Given the description of an element on the screen output the (x, y) to click on. 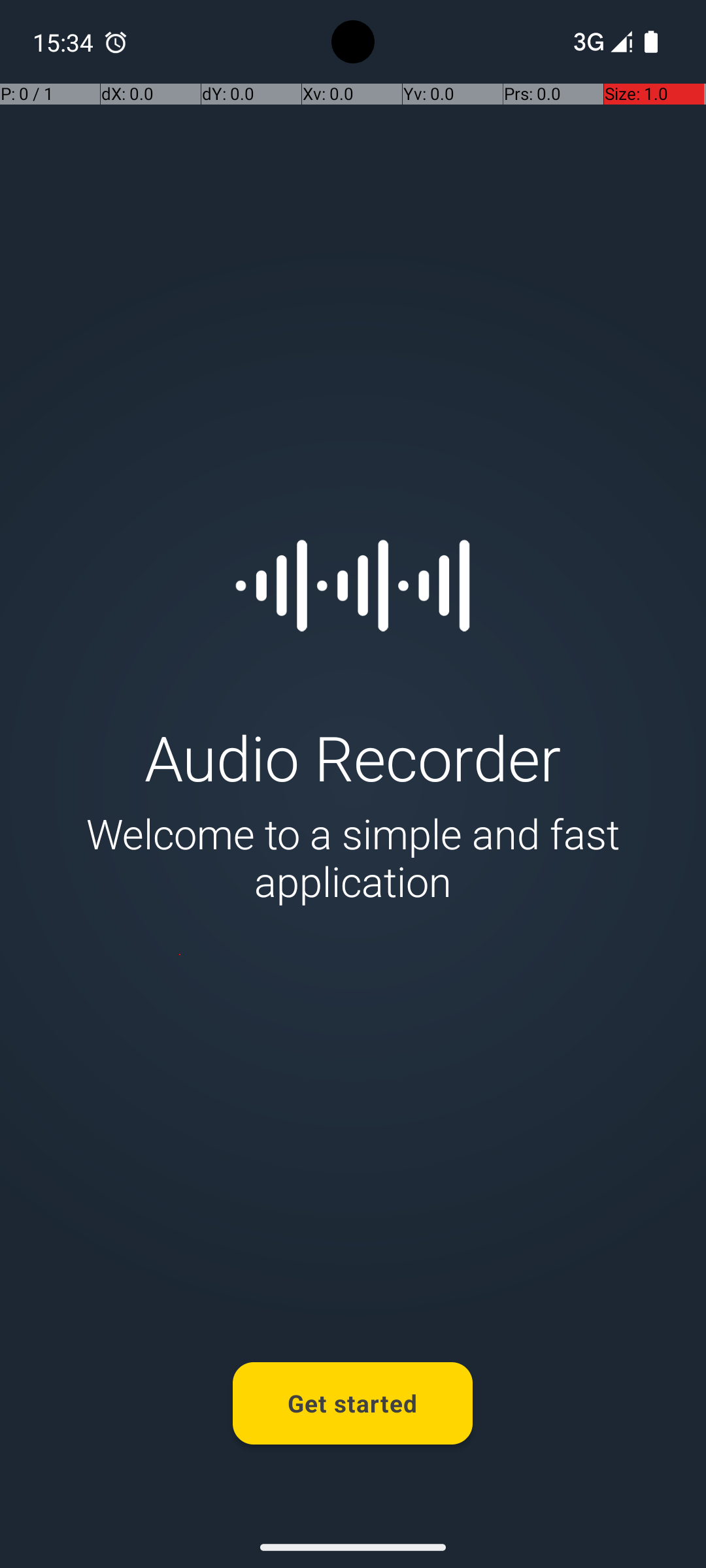
Clock notification: Missed alarm Element type: android.widget.ImageView (115, 41)
